Given the description of an element on the screen output the (x, y) to click on. 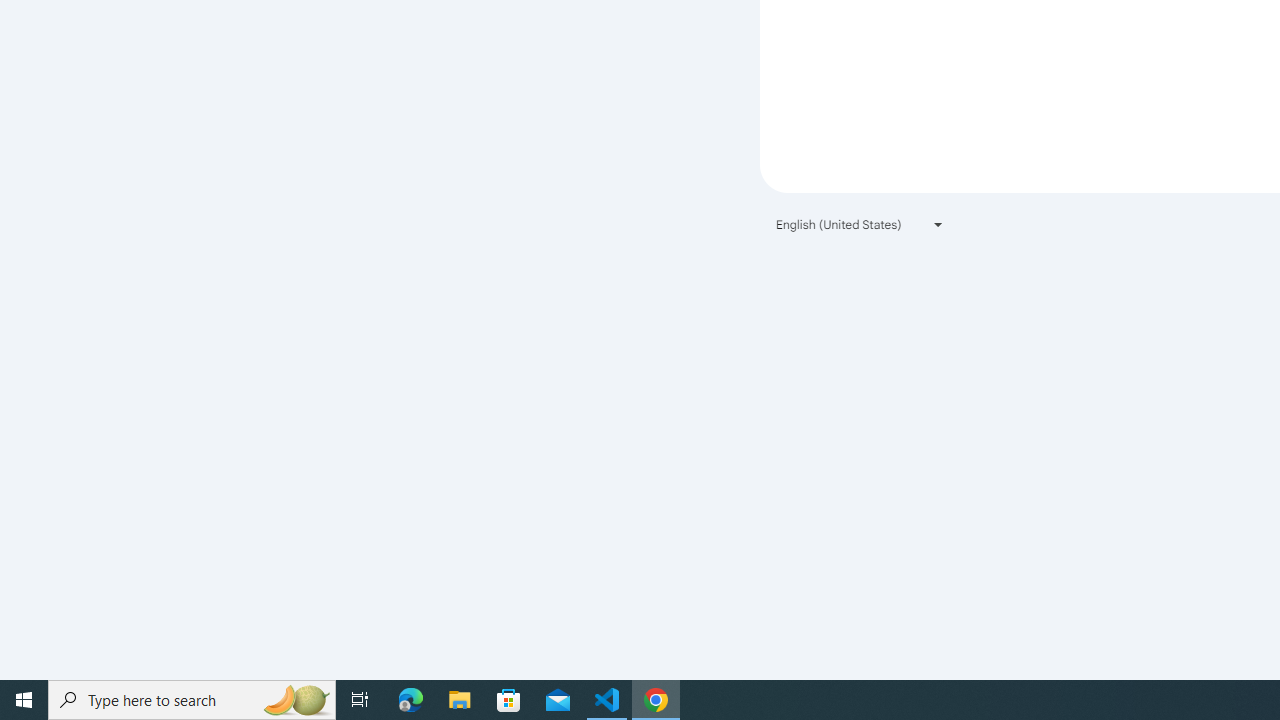
English (United States) (860, 224)
